Given the description of an element on the screen output the (x, y) to click on. 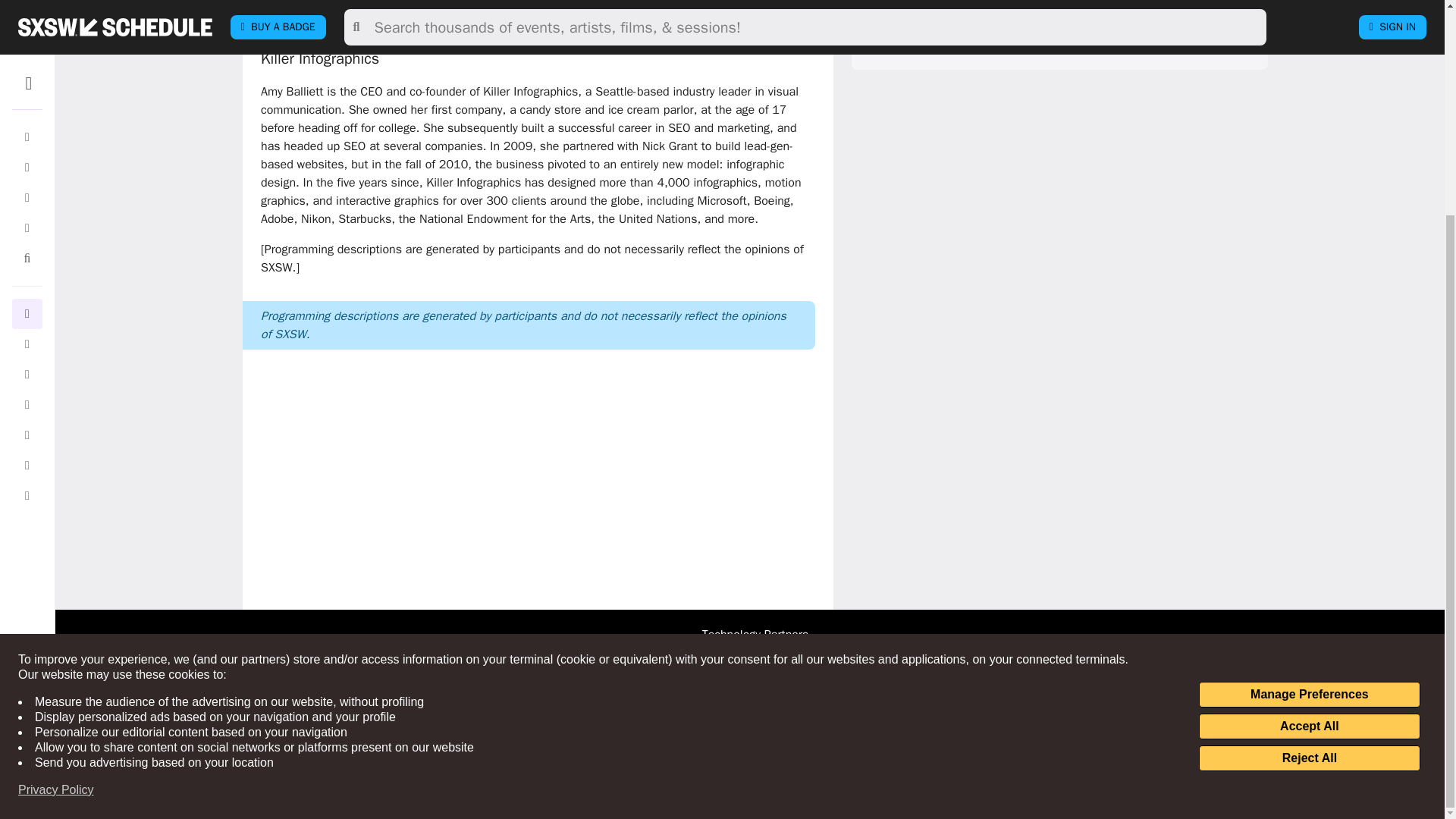
Reject All (1309, 475)
Manage Preferences (1309, 412)
Accept All (1309, 444)
Privacy Policy (55, 507)
